Given the description of an element on the screen output the (x, y) to click on. 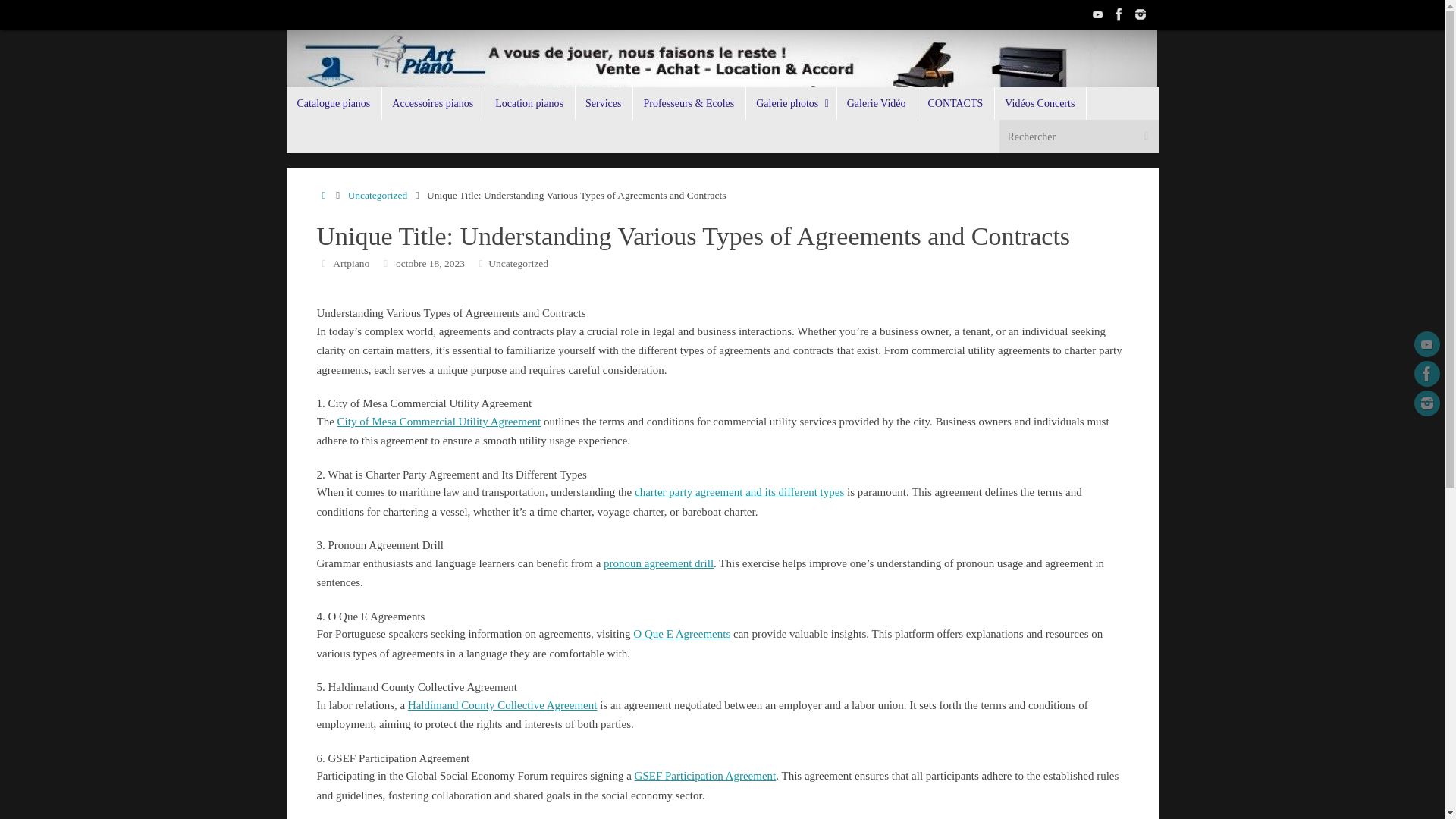
City of Mesa Commercial Utility Agreement (439, 421)
YouTube (1097, 14)
Instagram (1140, 14)
Artpiano (351, 263)
Accessoires pianos (432, 102)
Galerie photos (790, 102)
Uncategorized (377, 194)
Instagram (1426, 403)
Voir toutes les publications de Artpiano (351, 263)
octobre 18, 2023 (430, 263)
